Given the description of an element on the screen output the (x, y) to click on. 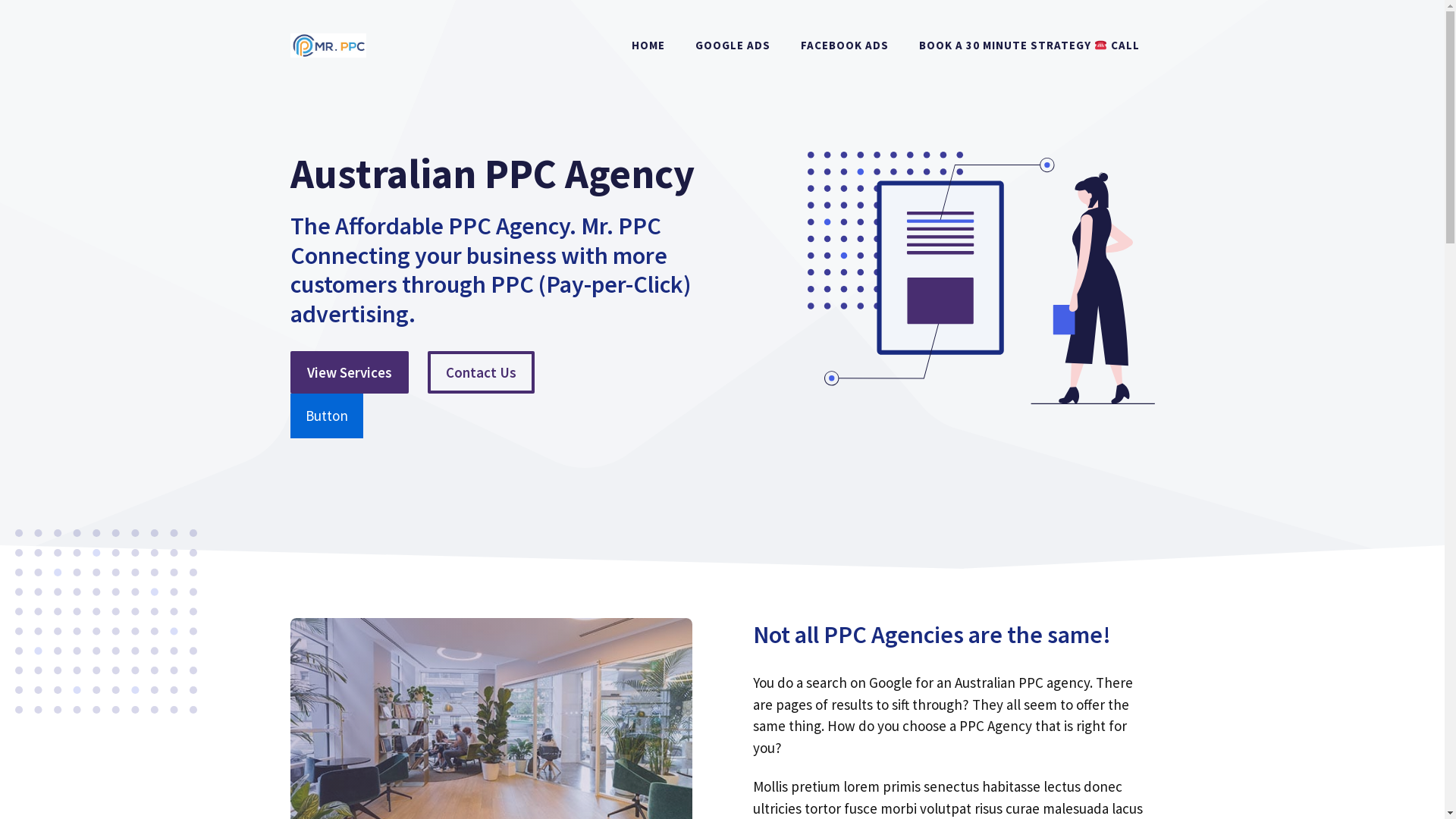
GOOGLE ADS Element type: text (732, 45)
Contact Us Element type: text (480, 372)
HOME Element type: text (648, 45)
BOOK A 30 MINUTE STRATEGY CALL Element type: text (1028, 45)
Google Element type: text (890, 682)
View Services Element type: text (348, 372)
FACEBOOK ADS Element type: text (844, 45)
